Given the description of an element on the screen output the (x, y) to click on. 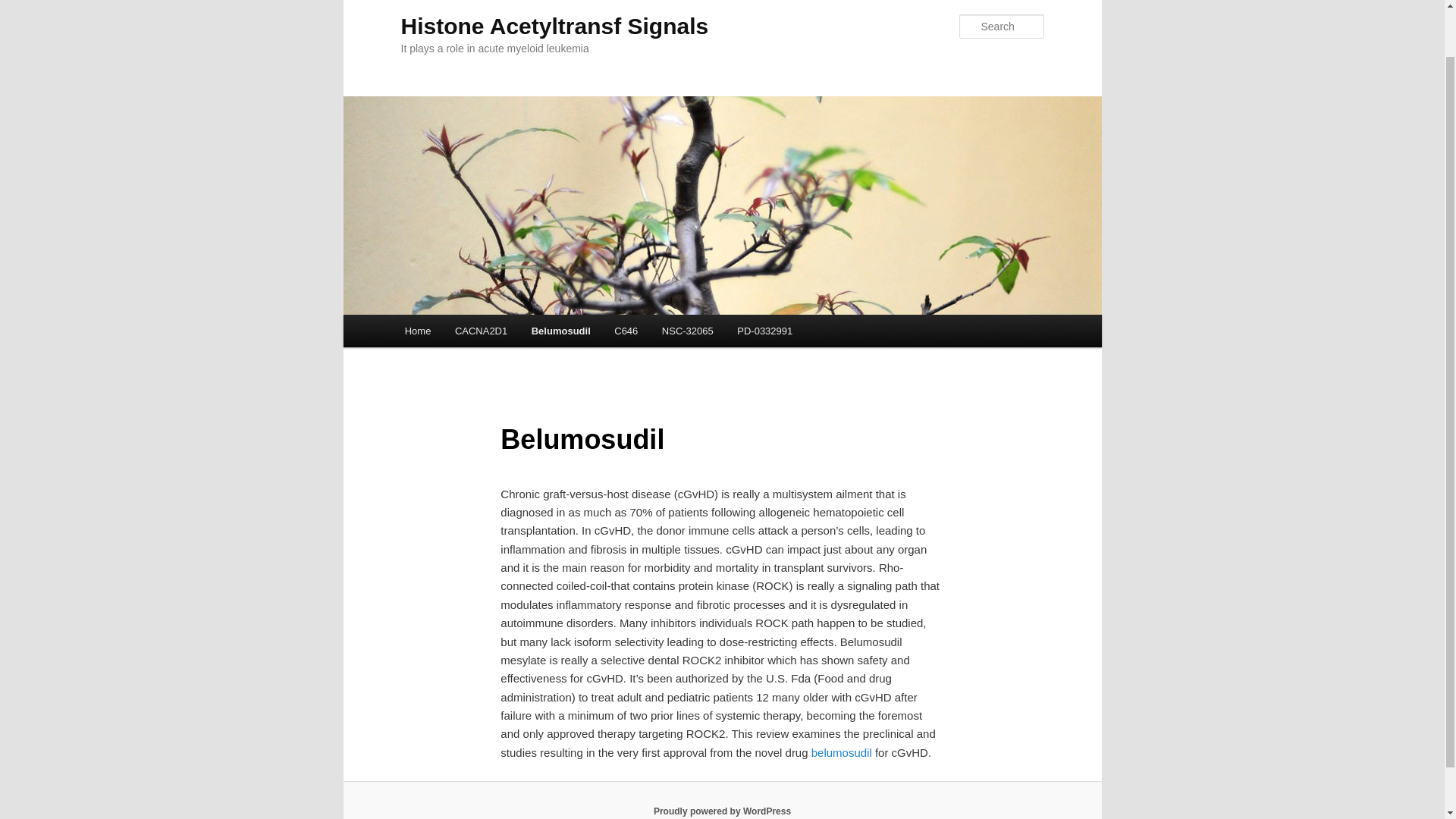
NSC-32065 (687, 330)
Home (417, 330)
Skip to primary content (472, 333)
PD-0332991 (765, 330)
Skip to primary content (472, 333)
Home (417, 330)
Proudly powered by WordPress (721, 810)
Skip to secondary content (479, 333)
C646 (625, 330)
belumosudil (841, 752)
